Given the description of an element on the screen output the (x, y) to click on. 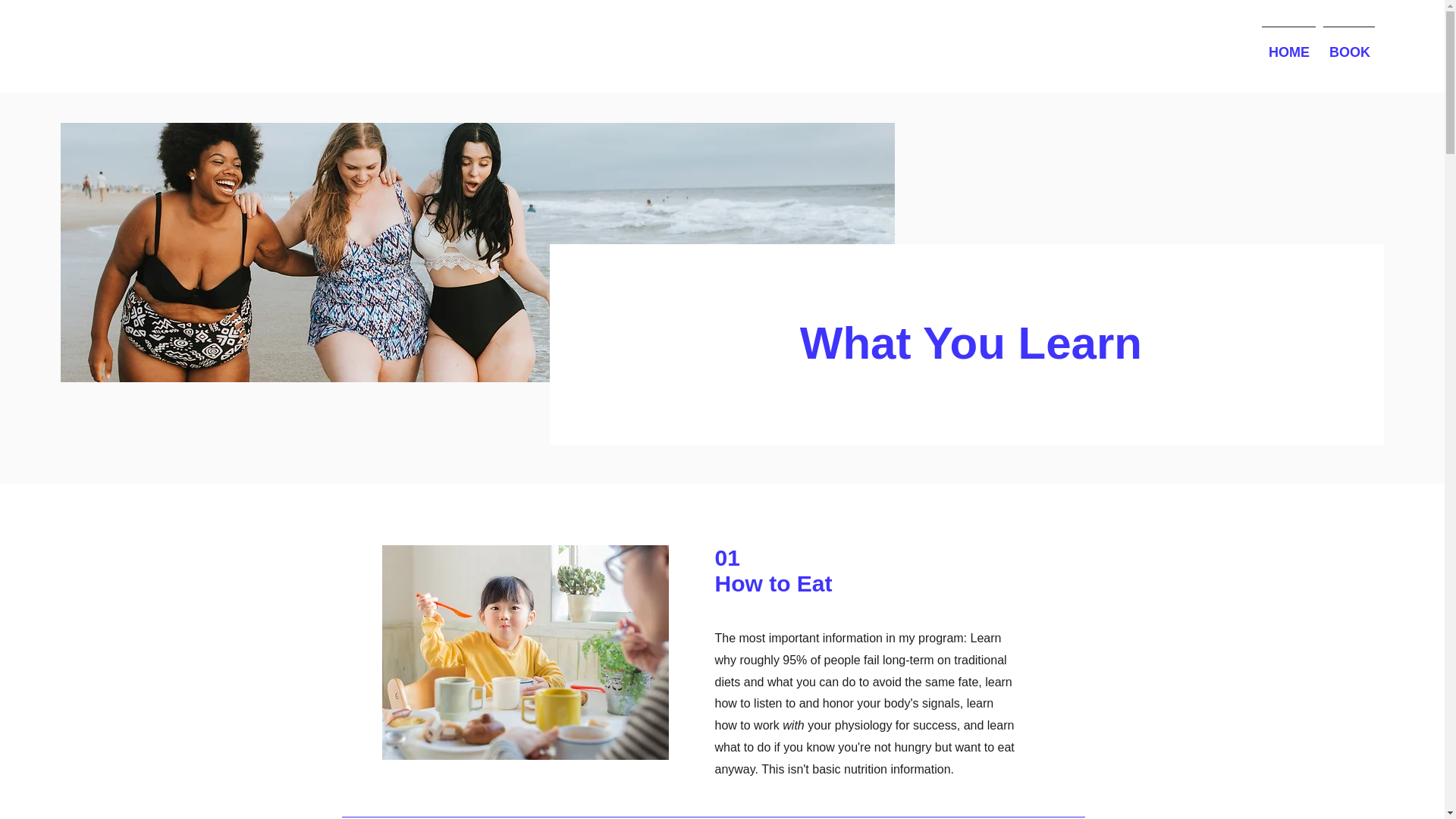
BOOK (1348, 45)
HOME (1288, 45)
